Given the description of an element on the screen output the (x, y) to click on. 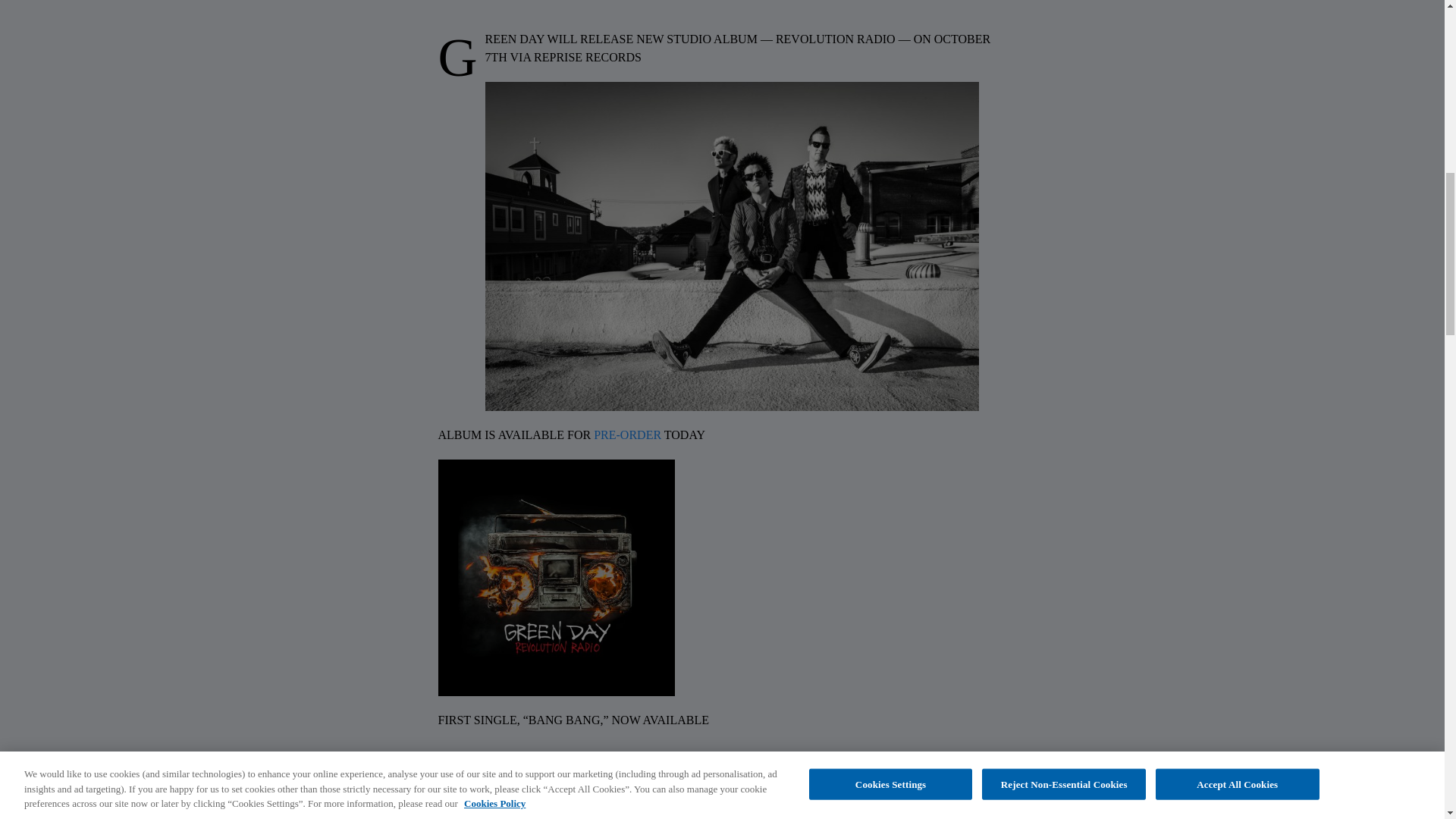
PRE-ORDER (627, 434)
